Given the description of an element on the screen output the (x, y) to click on. 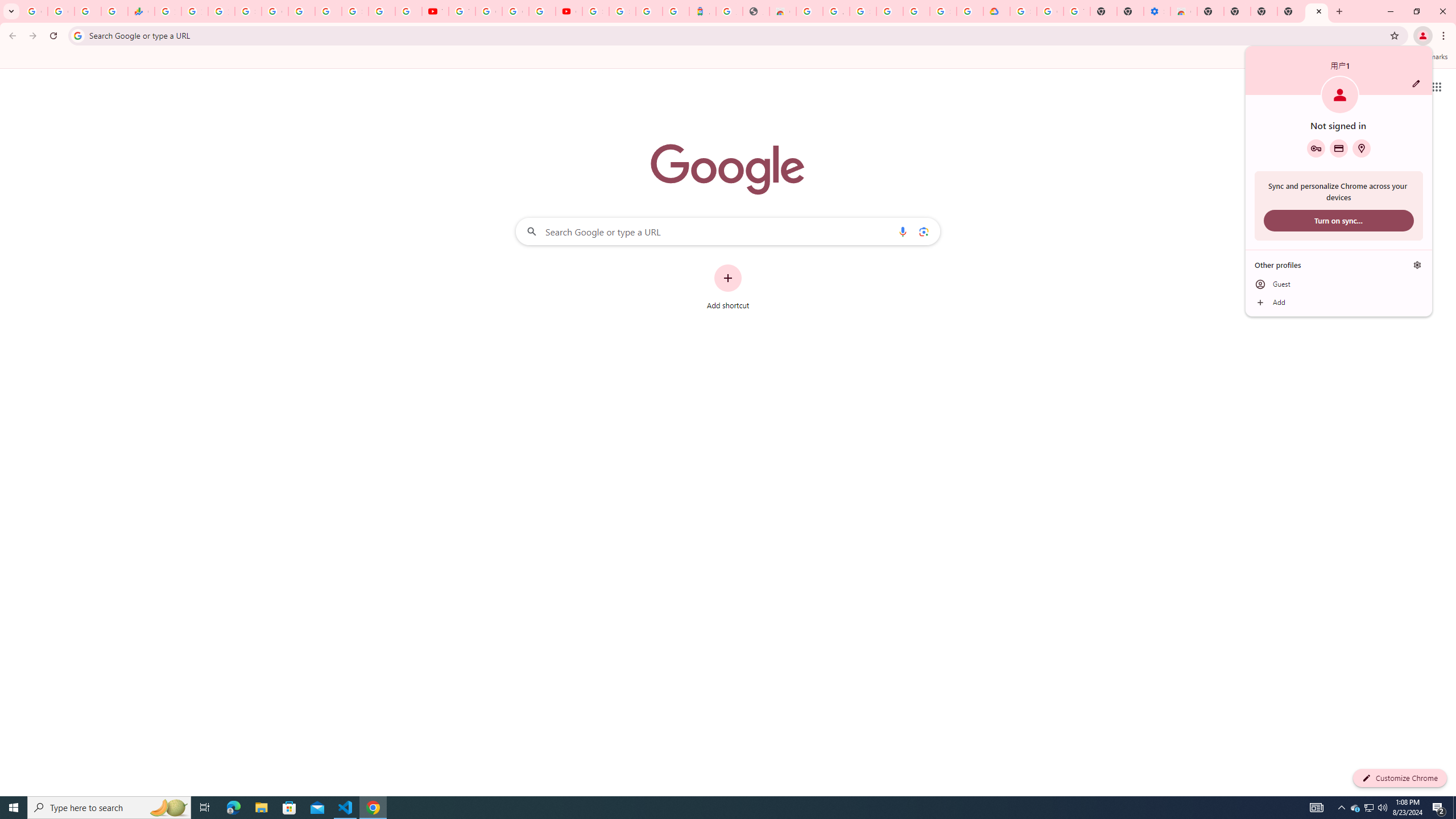
Start (13, 807)
Chrome Web Store - Accessibility extensions (1183, 11)
Privacy Checkup (408, 11)
Search highlights icon opens search home window (167, 807)
Chrome Web Store - Household (782, 11)
Search Google or type a URL (727, 230)
